Given the description of an element on the screen output the (x, y) to click on. 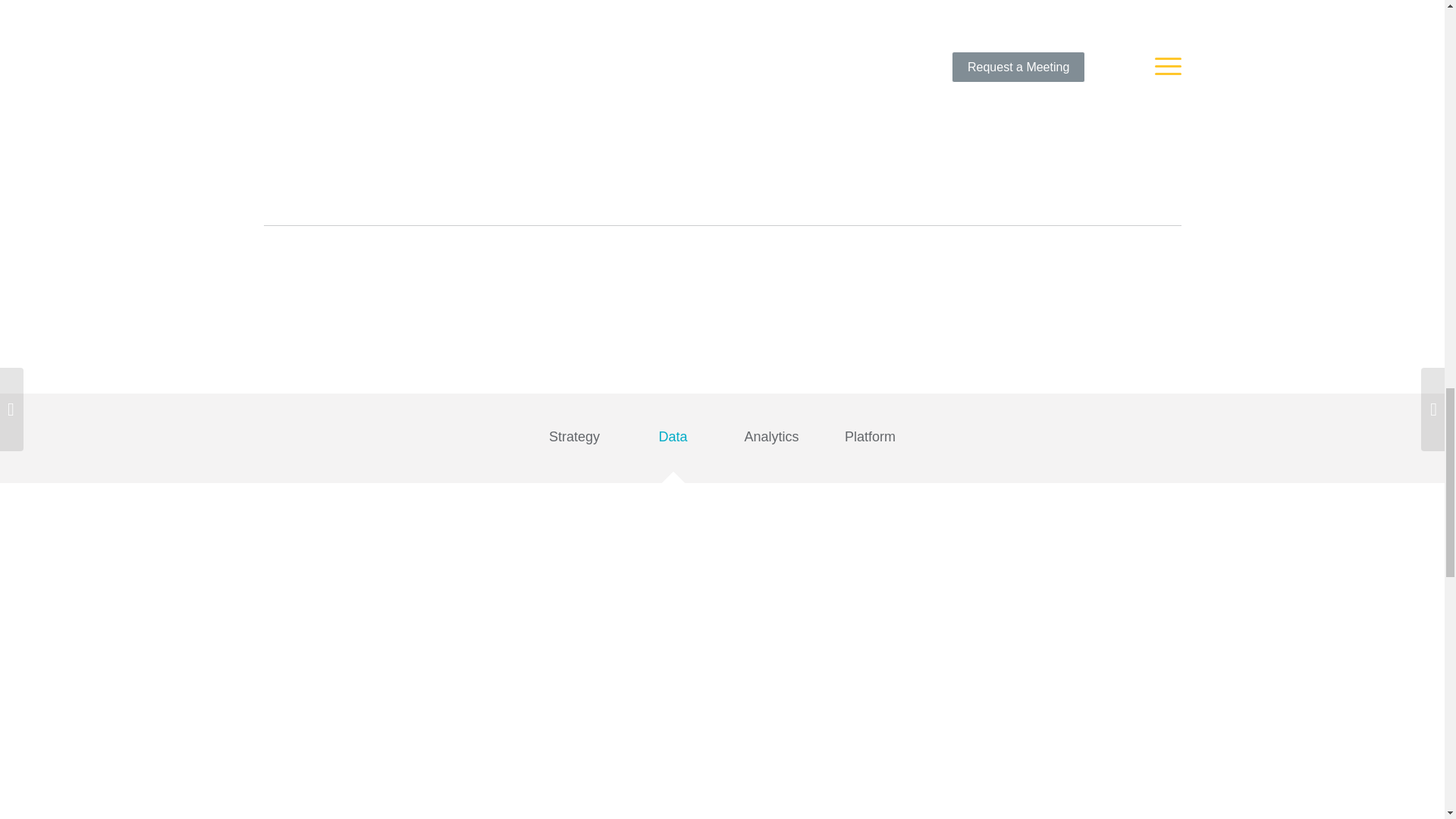
Data (672, 441)
Platform (869, 441)
Analytics (771, 441)
Strategy (573, 441)
Data (672, 441)
